Given the description of an element on the screen output the (x, y) to click on. 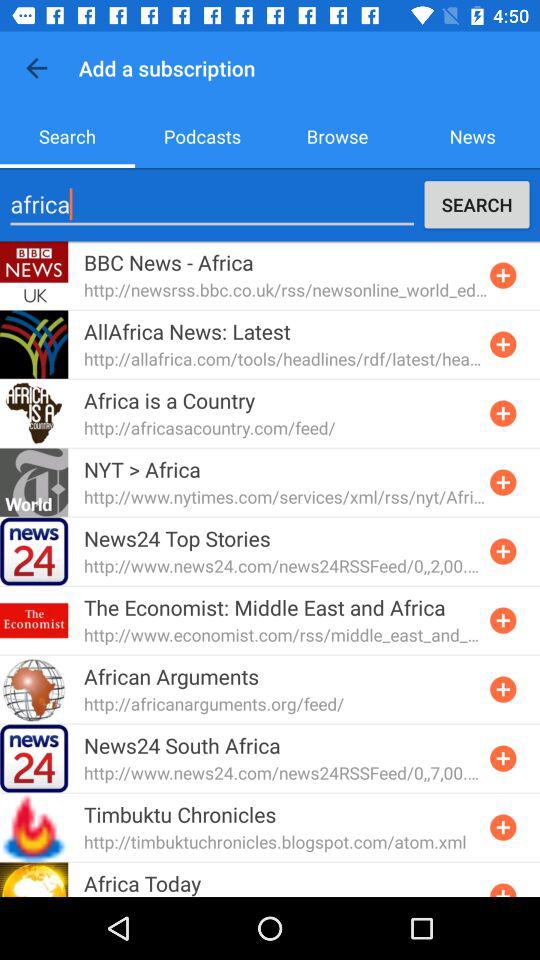
select rss feed for news 24 (503, 758)
